Given the description of an element on the screen output the (x, y) to click on. 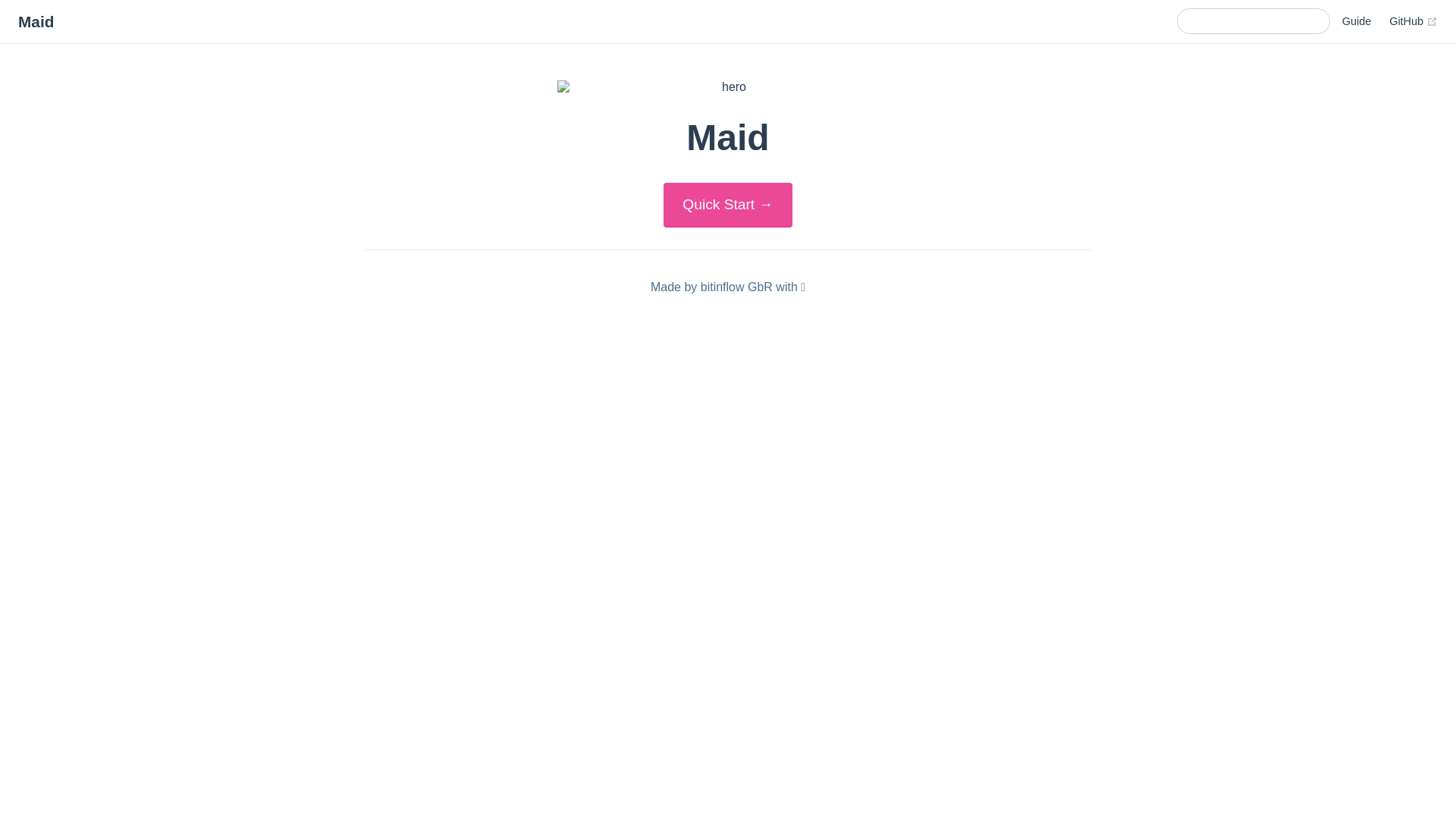
Maid Element type: text (35, 22)
Guide Element type: text (1356, 20)
GitHub
(opens new window) Element type: text (1413, 20)
